Given the description of an element on the screen output the (x, y) to click on. 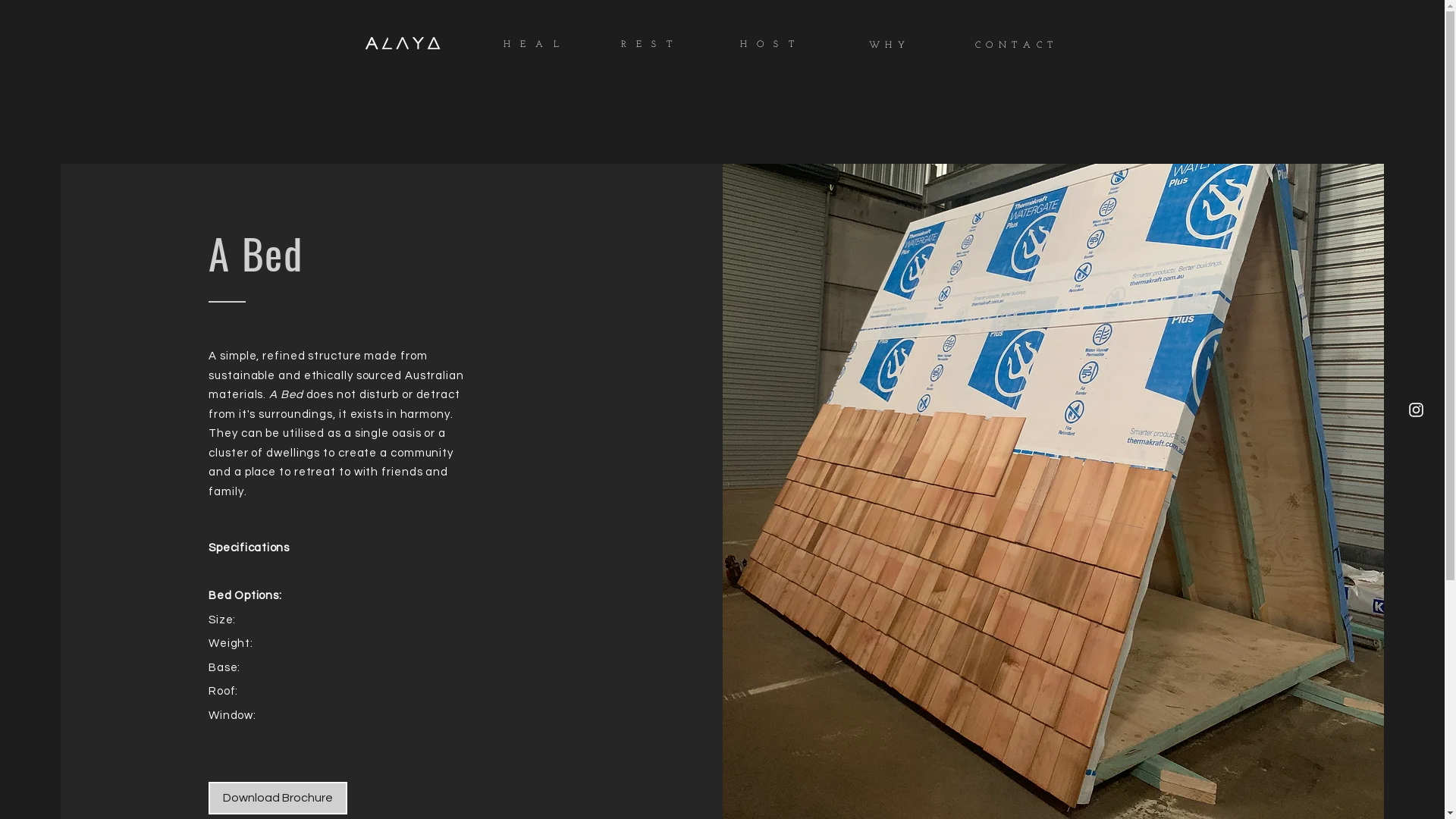
W H Y Element type: text (887, 43)
Download Brochure Element type: text (277, 797)
H  O  S  T Element type: text (767, 42)
H  E  A  L Element type: text (531, 42)
R  E  S  T Element type: text (646, 42)
C O N T A C T  Element type: text (1016, 43)
